Given the description of an element on the screen output the (x, y) to click on. 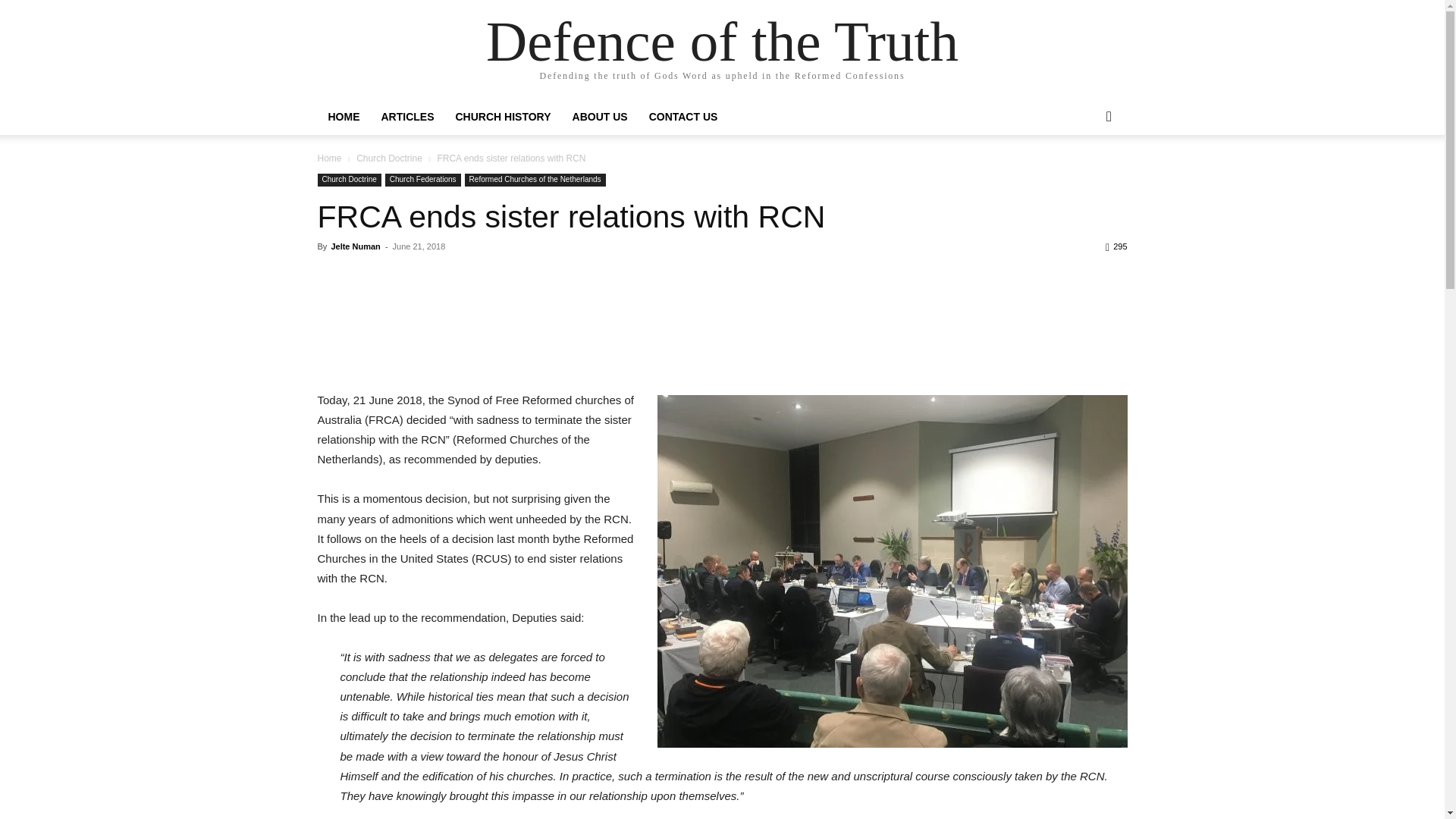
Defence of the Truth (722, 41)
View all posts in Church Doctrine (389, 158)
Church Doctrine (348, 179)
Home (328, 158)
topFacebookLike (430, 273)
Search (1085, 177)
Reformed Churches of the Netherlands (534, 179)
CHURCH HISTORY (502, 116)
Church Federations (423, 179)
CONTACT US (684, 116)
